Given the description of an element on the screen output the (x, y) to click on. 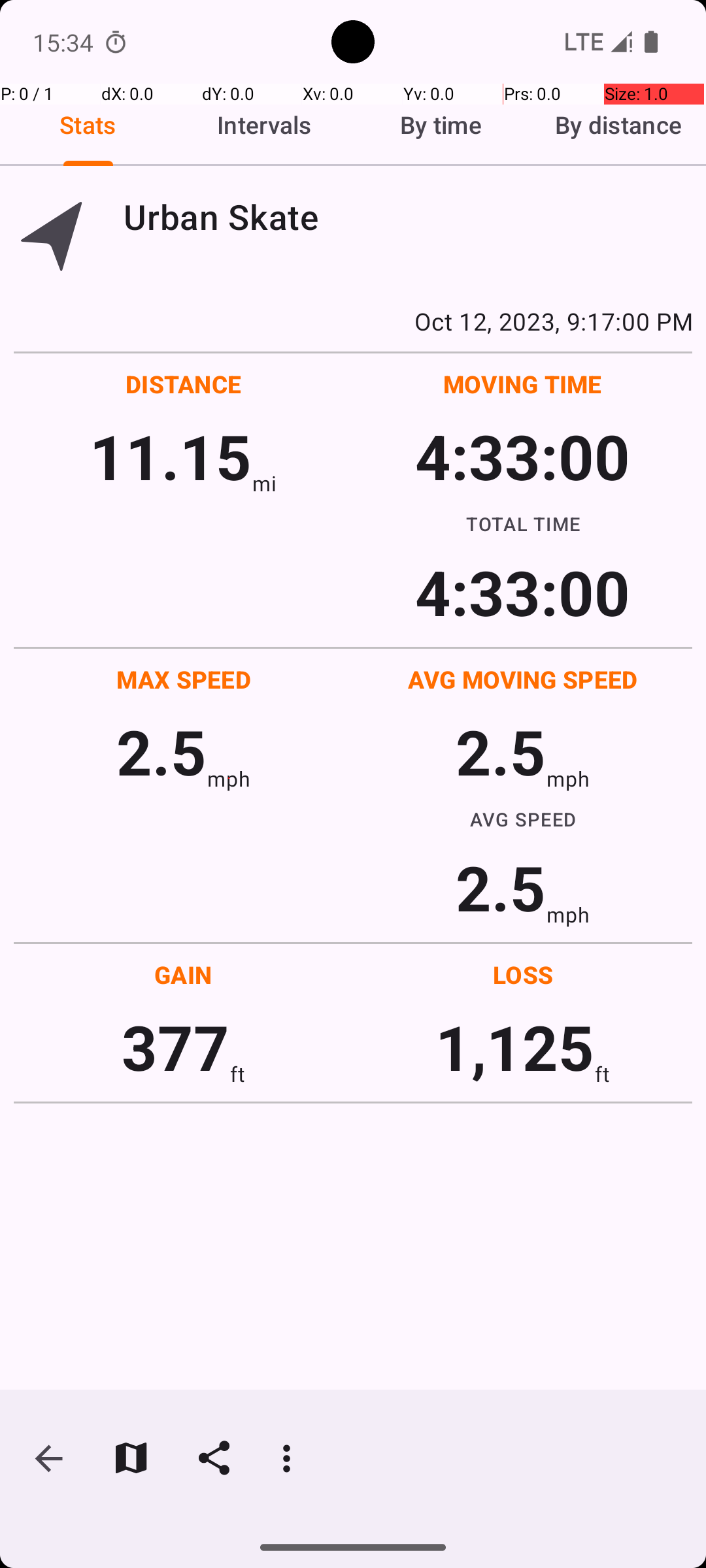
Urban Skate Element type: android.widget.TextView (407, 216)
Oct 12, 2023, 9:17:00 PM Element type: android.widget.TextView (352, 320)
11.15 Element type: android.widget.TextView (170, 455)
4:33:00 Element type: android.widget.TextView (522, 455)
2.5 Element type: android.widget.TextView (161, 750)
377 Element type: android.widget.TextView (175, 1045)
1,125 Element type: android.widget.TextView (514, 1045)
